Given the description of an element on the screen output the (x, y) to click on. 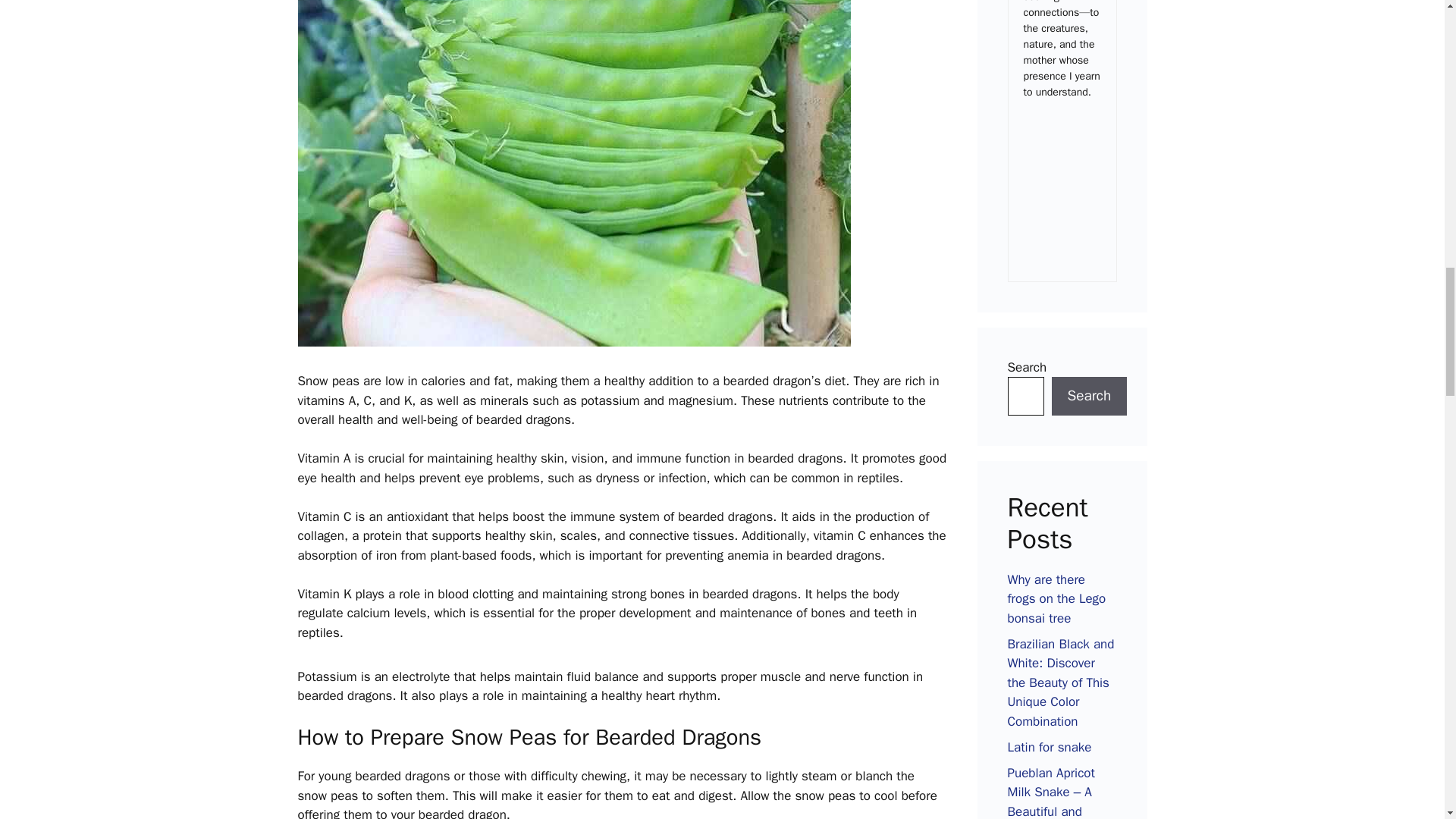
Latin for snake (1048, 747)
Why are there frogs on the Lego bonsai tree (1056, 598)
Search (1088, 395)
